Given the description of an element on the screen output the (x, y) to click on. 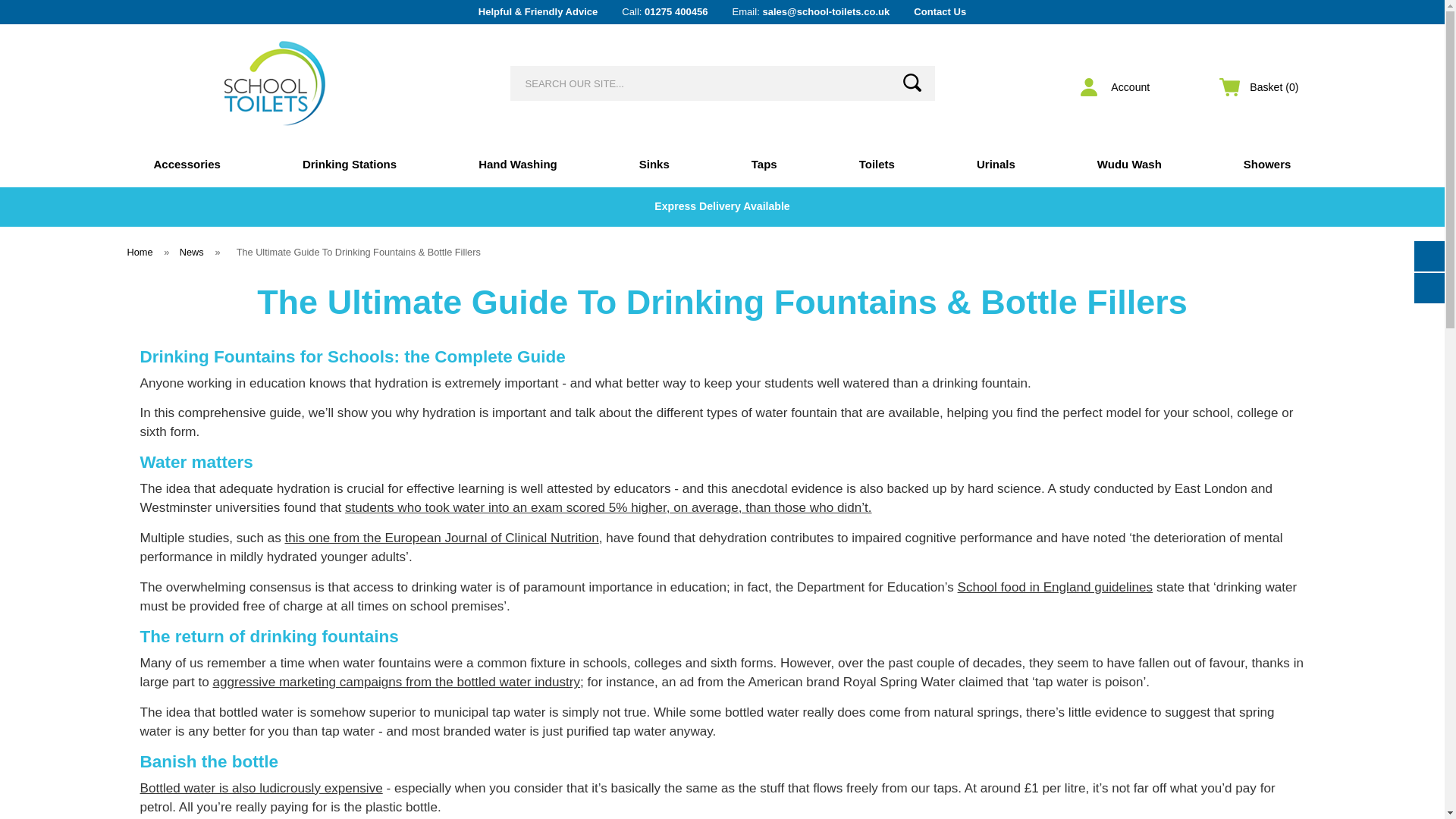
Search (912, 82)
Contact Us (940, 11)
Account (1118, 86)
Drinking Stations (349, 164)
Accessories (185, 164)
my account (1118, 86)
School Toilets (275, 82)
Hand Washing (518, 164)
01275 400456 (676, 11)
